Given the description of an element on the screen output the (x, y) to click on. 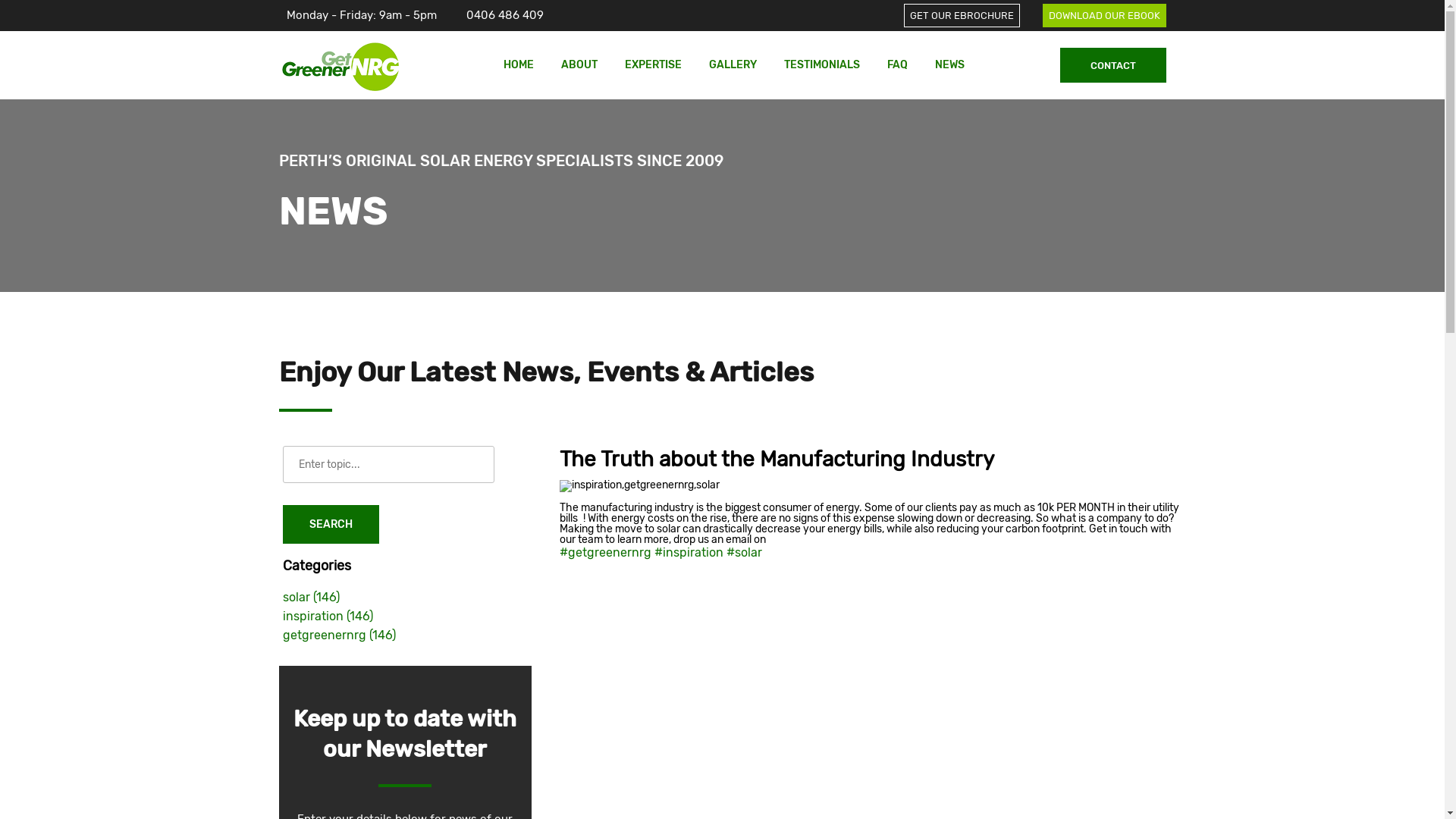
GET OUR EBROCHURE Element type: text (961, 14)
#getgreenernrg Element type: text (606, 552)
getgreenernrg (146) Element type: text (338, 634)
#solar Element type: text (744, 552)
Search Element type: text (330, 524)
HOME Element type: text (518, 64)
solar (146) Element type: text (310, 596)
ABOUT Element type: text (579, 64)
TESTIMONIALS Element type: text (821, 64)
EXPERTISE Element type: text (652, 64)
FAQ Element type: text (897, 64)
CONTACT Element type: text (1113, 64)
DOWNLOAD OUR EBOOK Element type: text (1103, 14)
0406 486 409 Element type: text (503, 14)
Get Greener NRG Element type: hover (343, 65)
#inspiration Element type: text (689, 552)
inspiration (146) Element type: text (327, 615)
NEWS Element type: text (948, 64)
GALLERY Element type: text (732, 64)
